Given the description of an element on the screen output the (x, y) to click on. 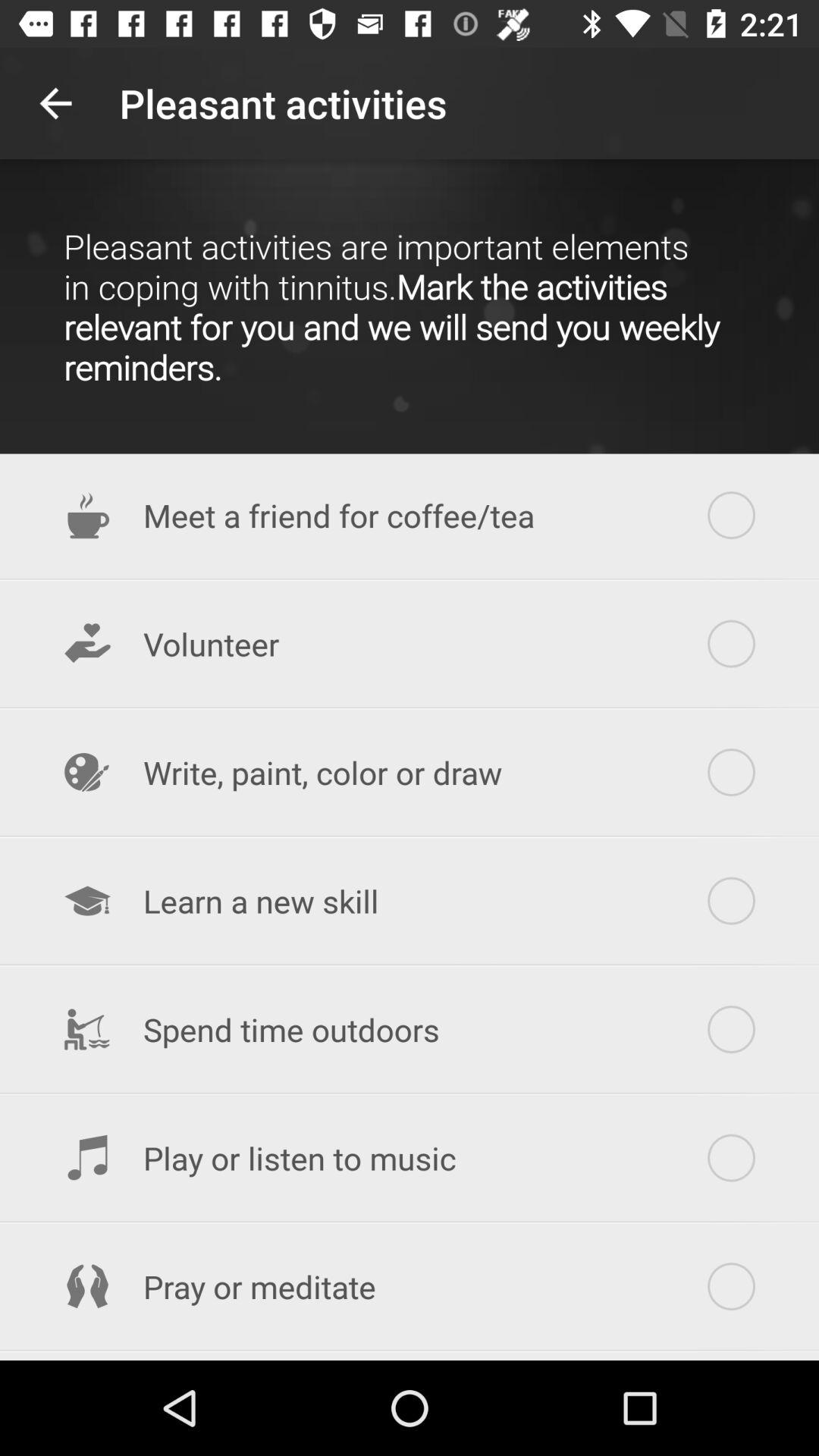
press icon above the play or listen icon (409, 1029)
